Given the description of an element on the screen output the (x, y) to click on. 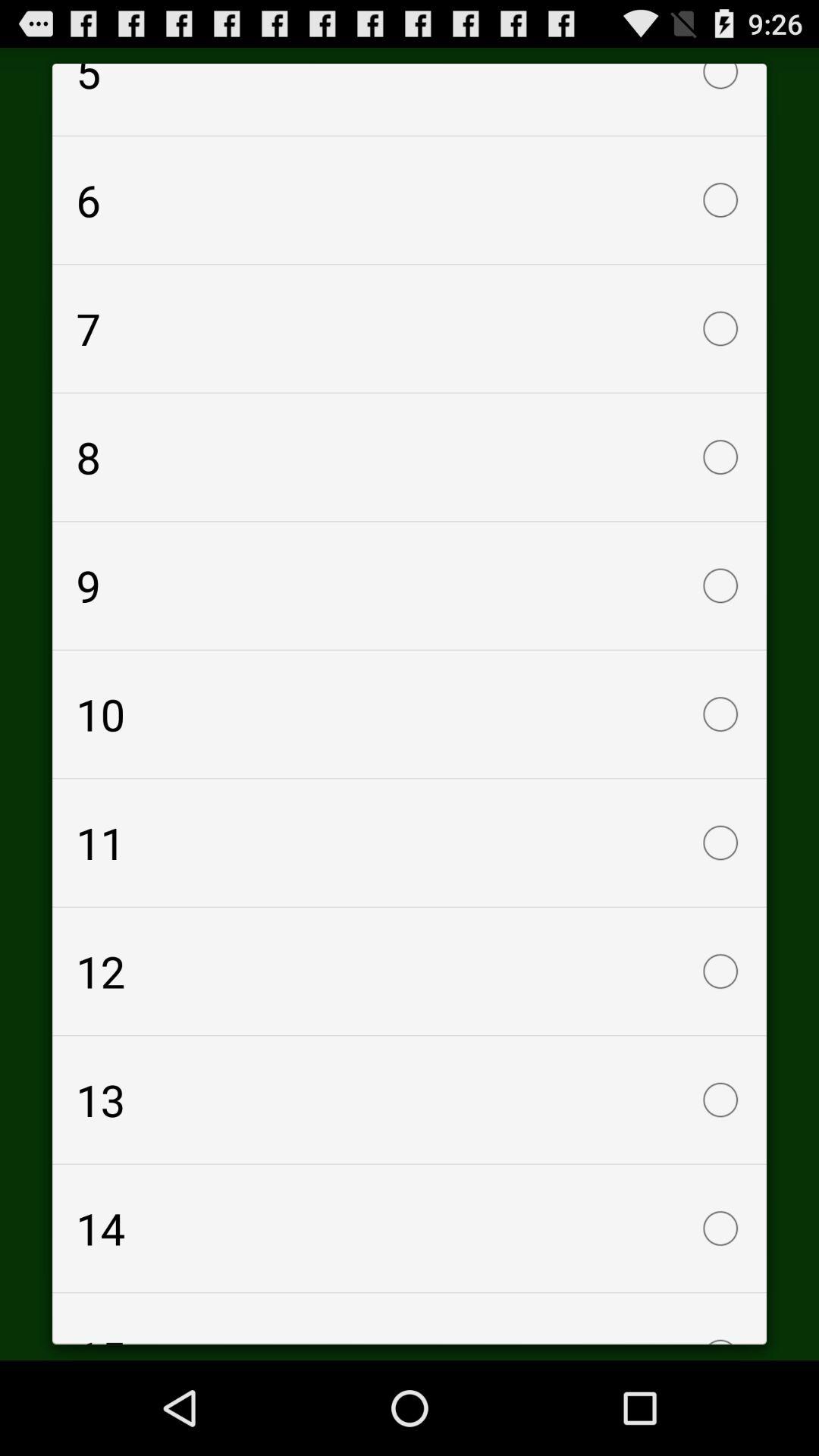
turn off checkbox above the 12 checkbox (409, 842)
